Given the description of an element on the screen output the (x, y) to click on. 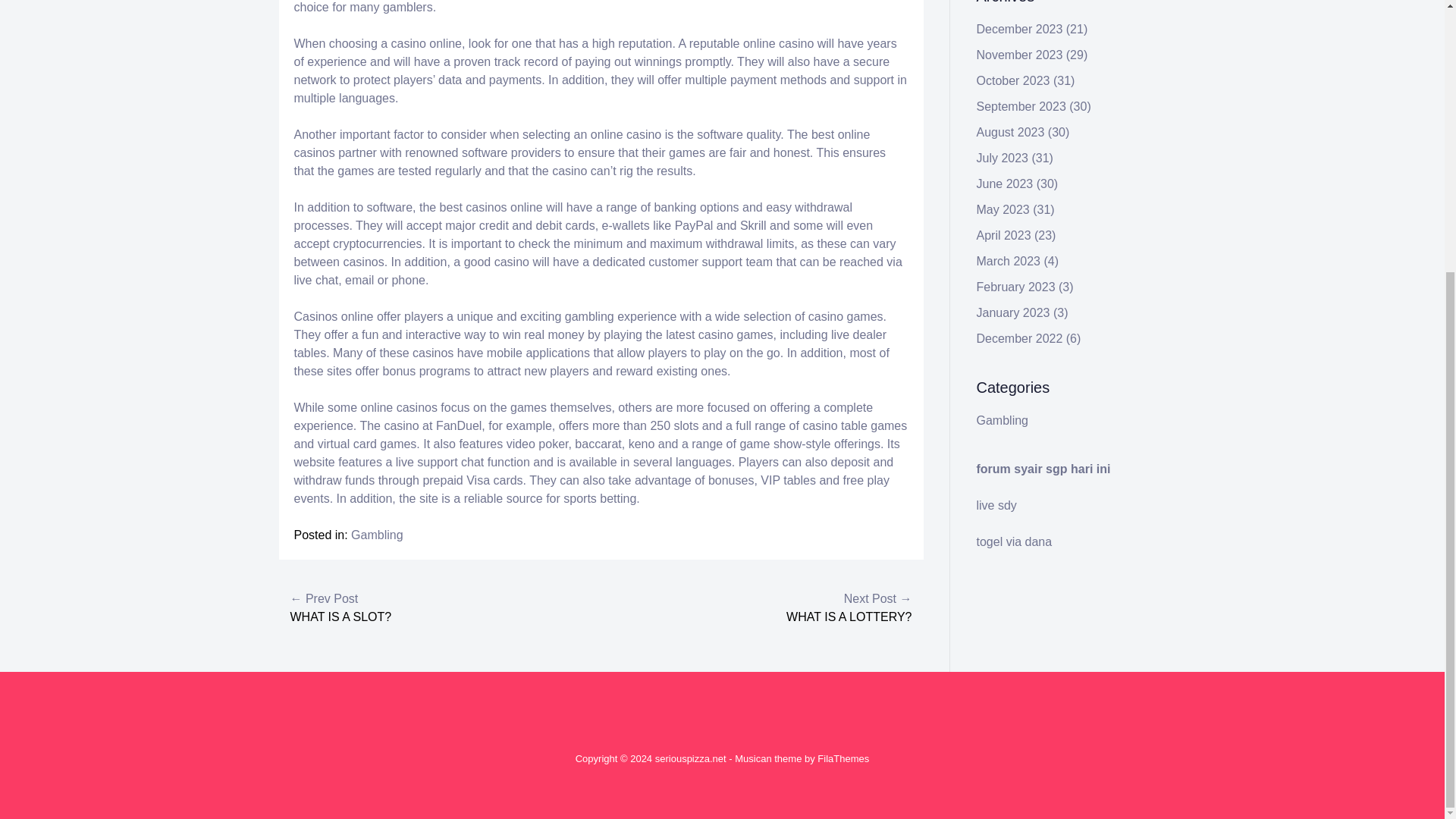
November 2023 (1019, 54)
January 2023 (1012, 312)
FilaThemes (842, 758)
seriouspizza.net (690, 758)
February 2023 (1015, 286)
April 2023 (1003, 235)
June 2023 (1004, 183)
July 2023 (1002, 157)
December 2022 (1019, 338)
Gambling (1001, 420)
live sdy (996, 504)
October 2023 (1012, 80)
seriouspizza.net (690, 758)
August 2023 (1010, 132)
Gambling (376, 534)
